Given the description of an element on the screen output the (x, y) to click on. 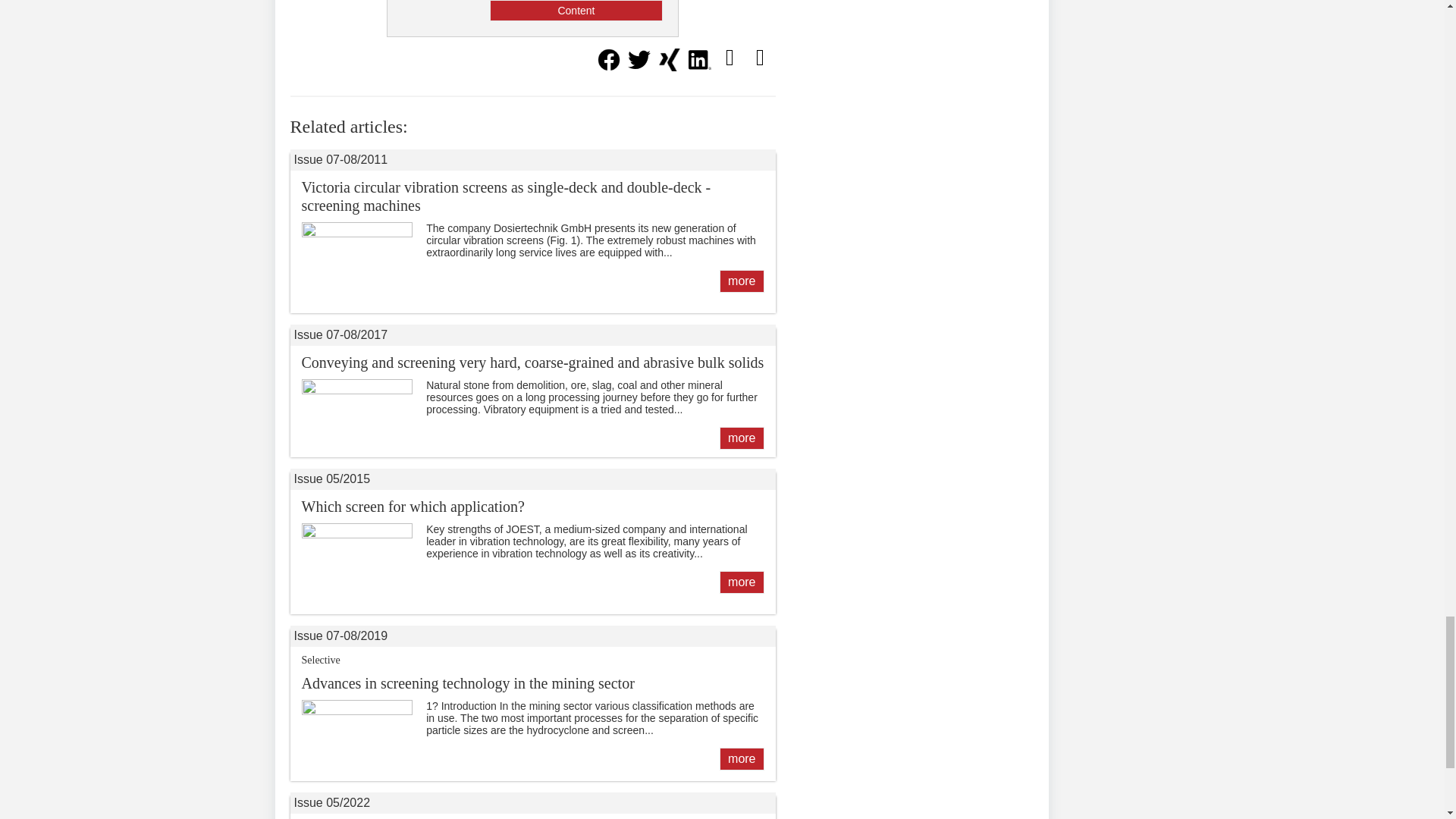
Advances in screening technology in the mining sector (740, 758)
Tweet auf Twitter (638, 66)
Auf LinkedIn teilen (699, 66)
Auf facebook teilen (607, 66)
Artikel drucken (759, 56)
Per E-Mail teilen (729, 56)
Auf Xing teilen (668, 66)
Which screen for which application? (740, 581)
